Given the description of an element on the screen output the (x, y) to click on. 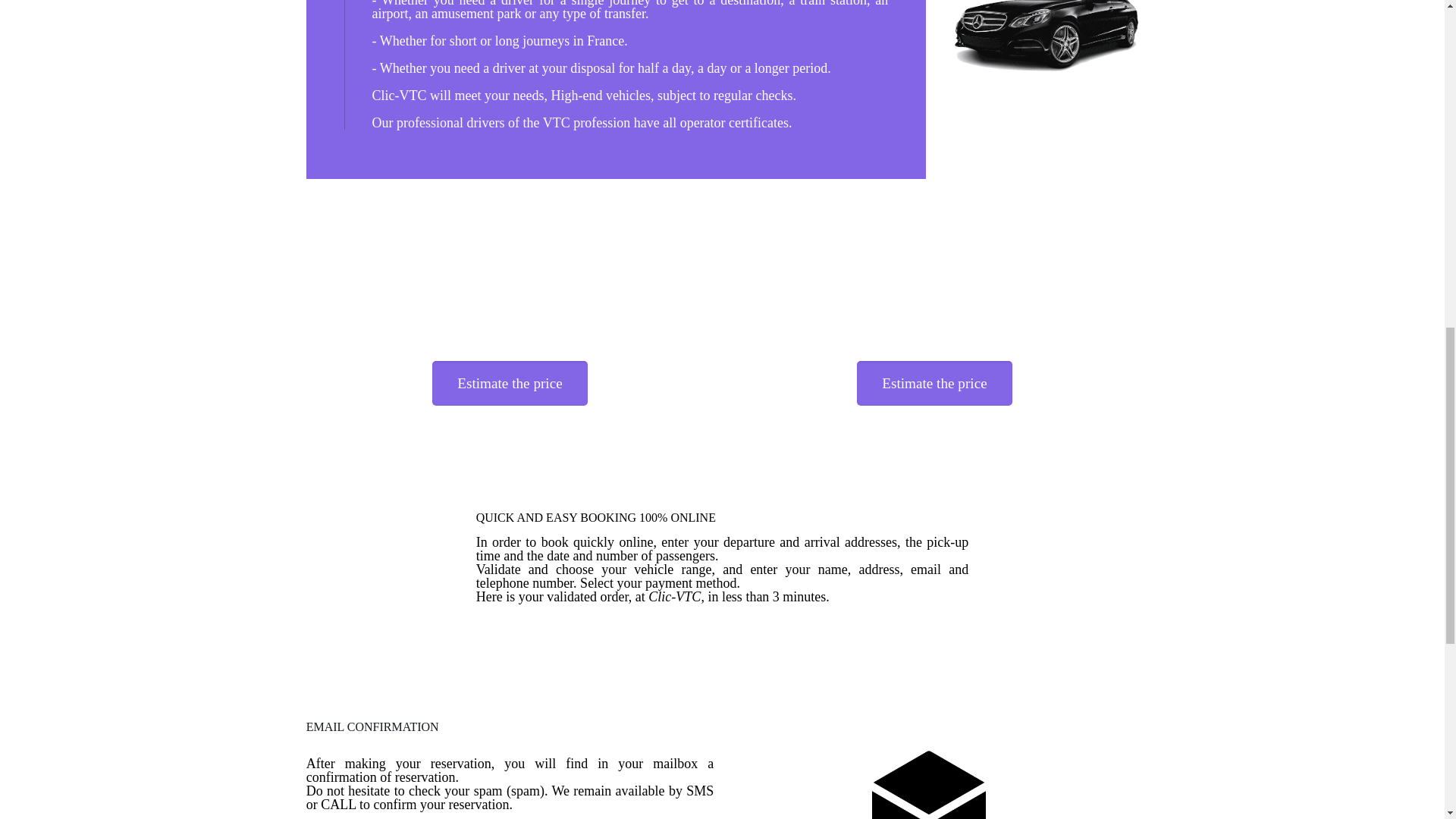
1-3 passenger sedan (1046, 35)
Estimate the price (934, 383)
Estimate the price (510, 383)
